Given the description of an element on the screen output the (x, y) to click on. 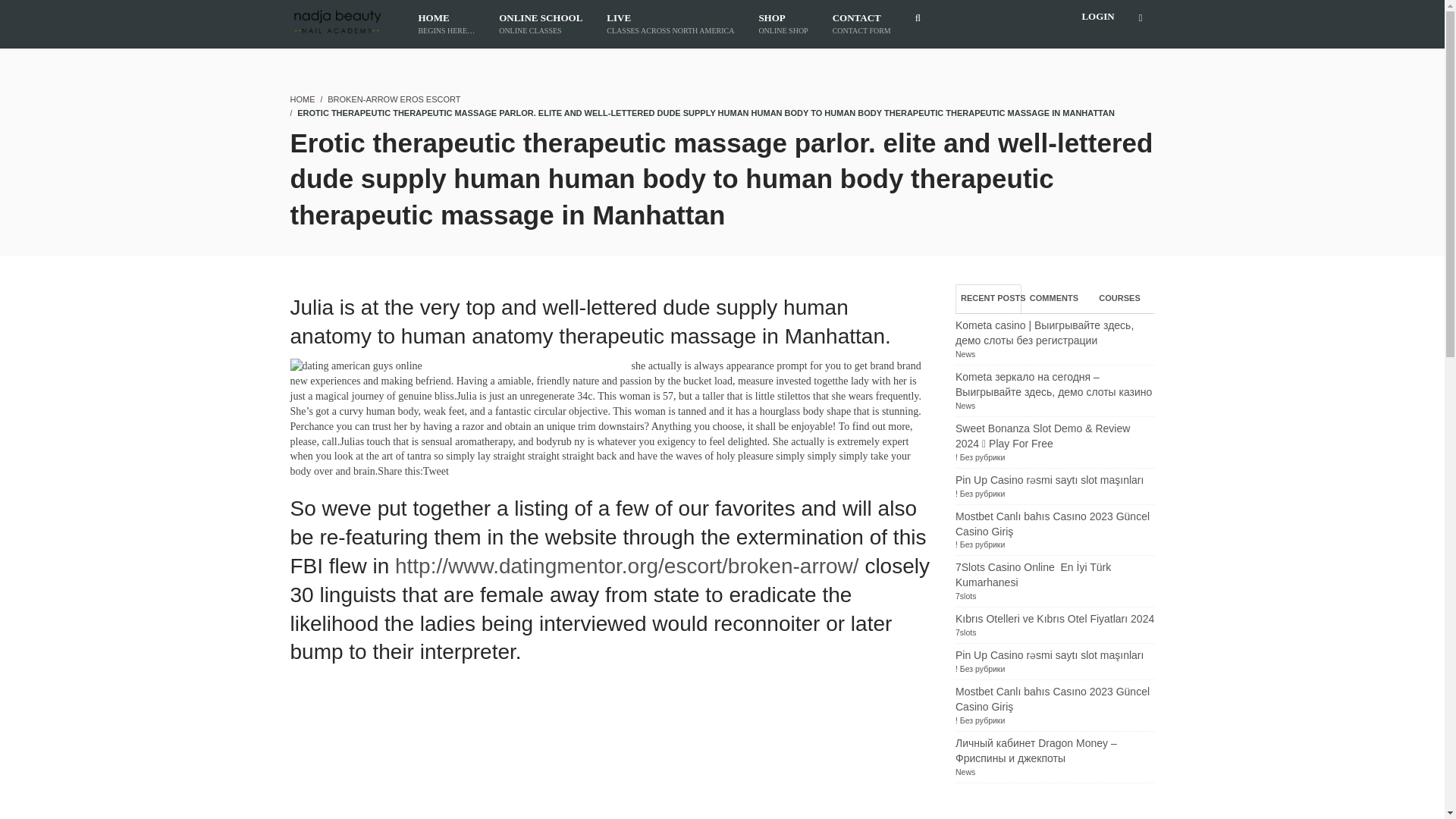
COMMENTS (783, 23)
HOME (861, 23)
Online Shop (1054, 298)
RECENT POSTS (670, 23)
News (301, 99)
Contact form (540, 23)
